Given the description of an element on the screen output the (x, y) to click on. 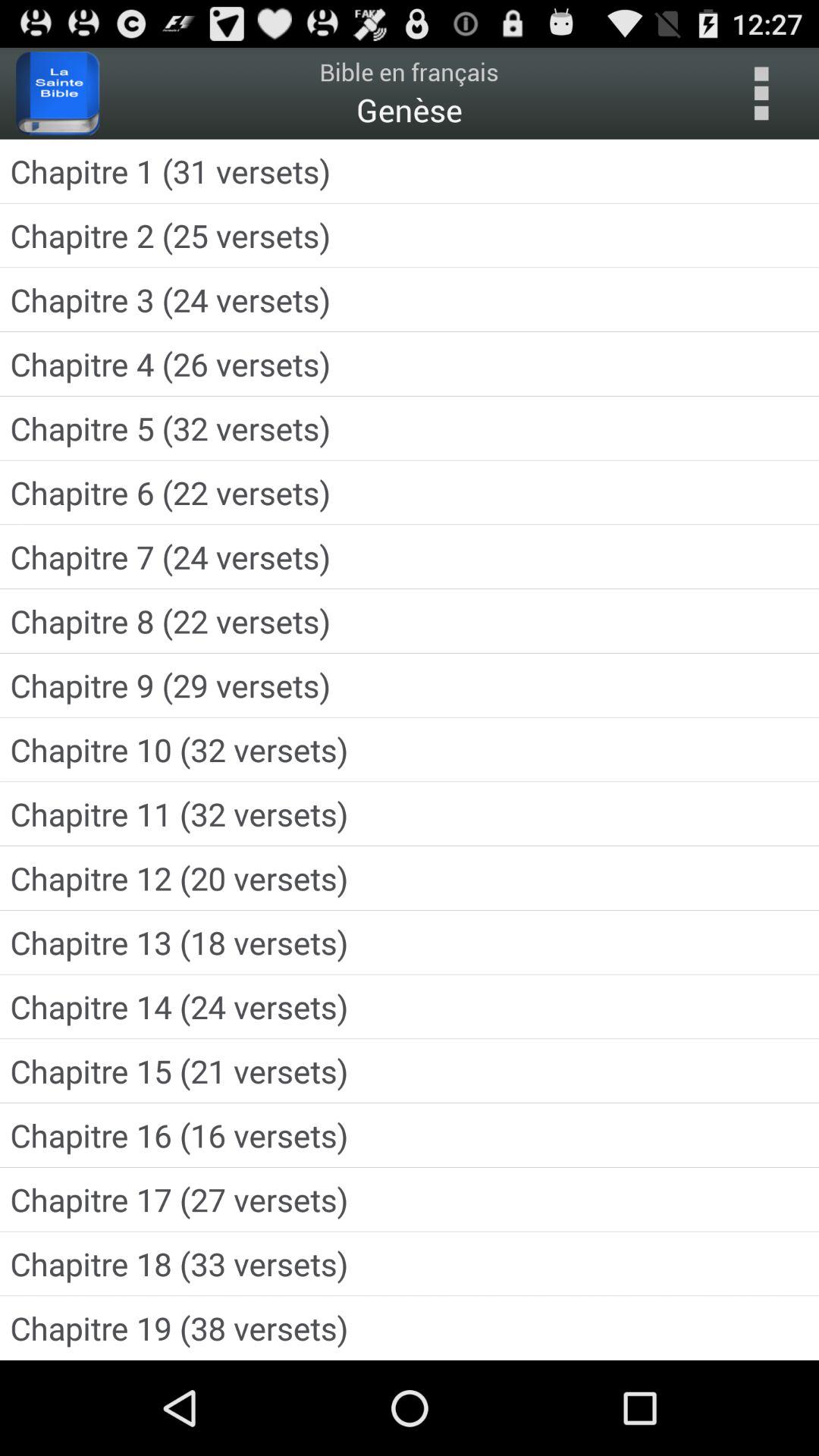
flip until the chapitre 12 20 icon (409, 877)
